Given the description of an element on the screen output the (x, y) to click on. 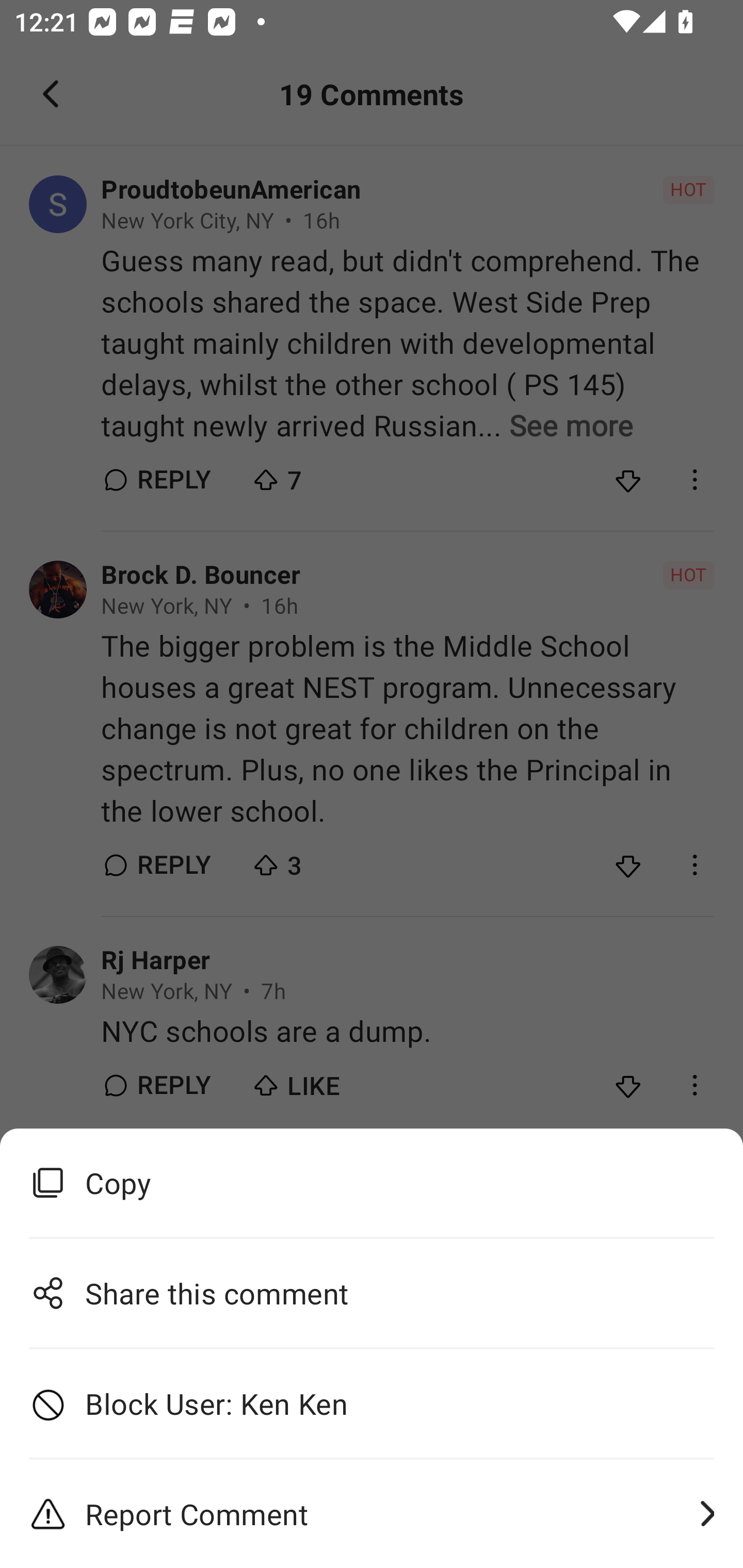
Copy (371, 1182)
Share this comment (371, 1292)
Block User: Ken Ken (371, 1404)
Report Comment (371, 1513)
